Given the description of an element on the screen output the (x, y) to click on. 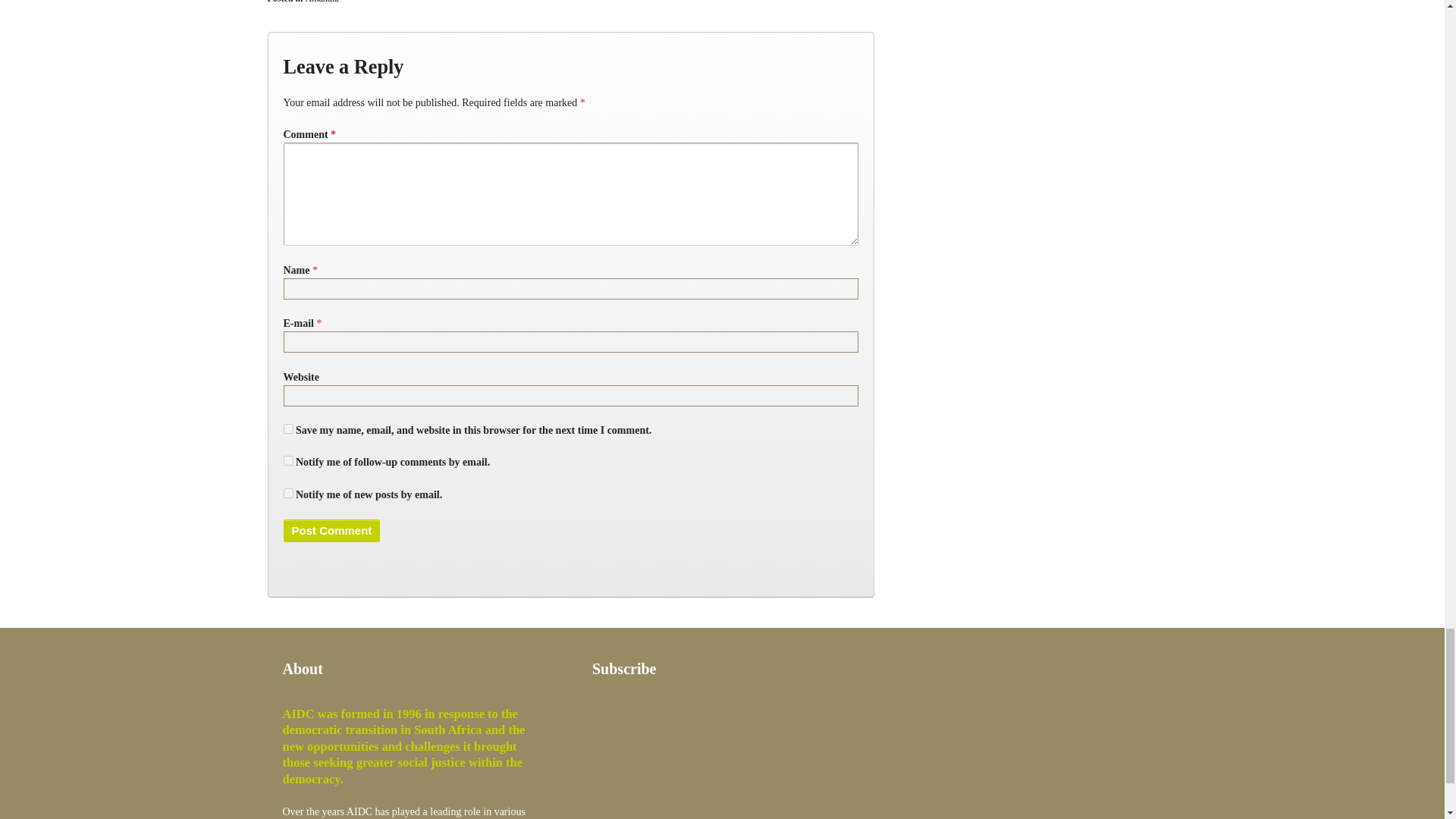
subscribe (288, 460)
Post Comment (331, 530)
subscribe (288, 492)
yes (288, 429)
